Given the description of an element on the screen output the (x, y) to click on. 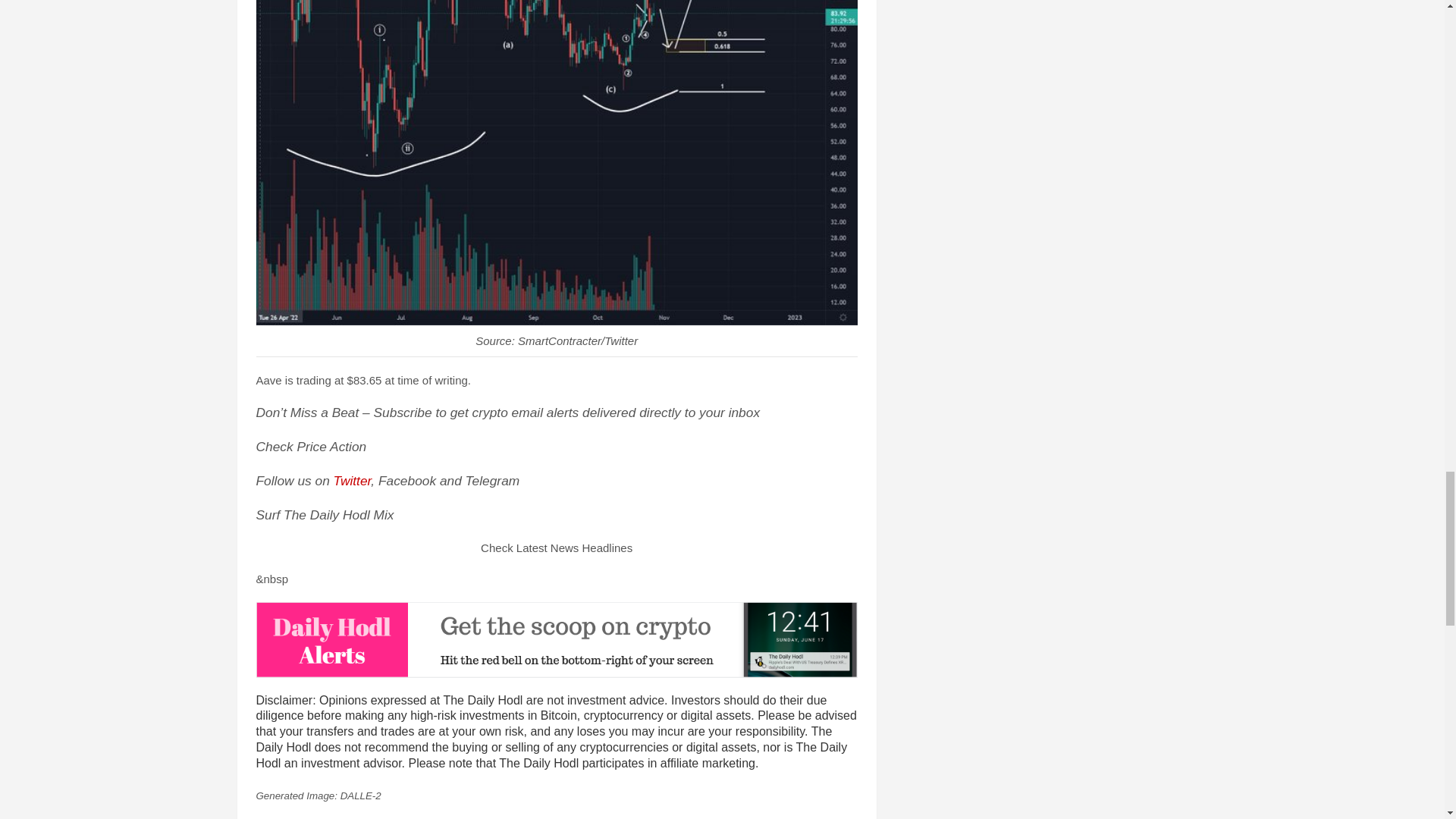
Twitter (352, 480)
